Given the description of an element on the screen output the (x, y) to click on. 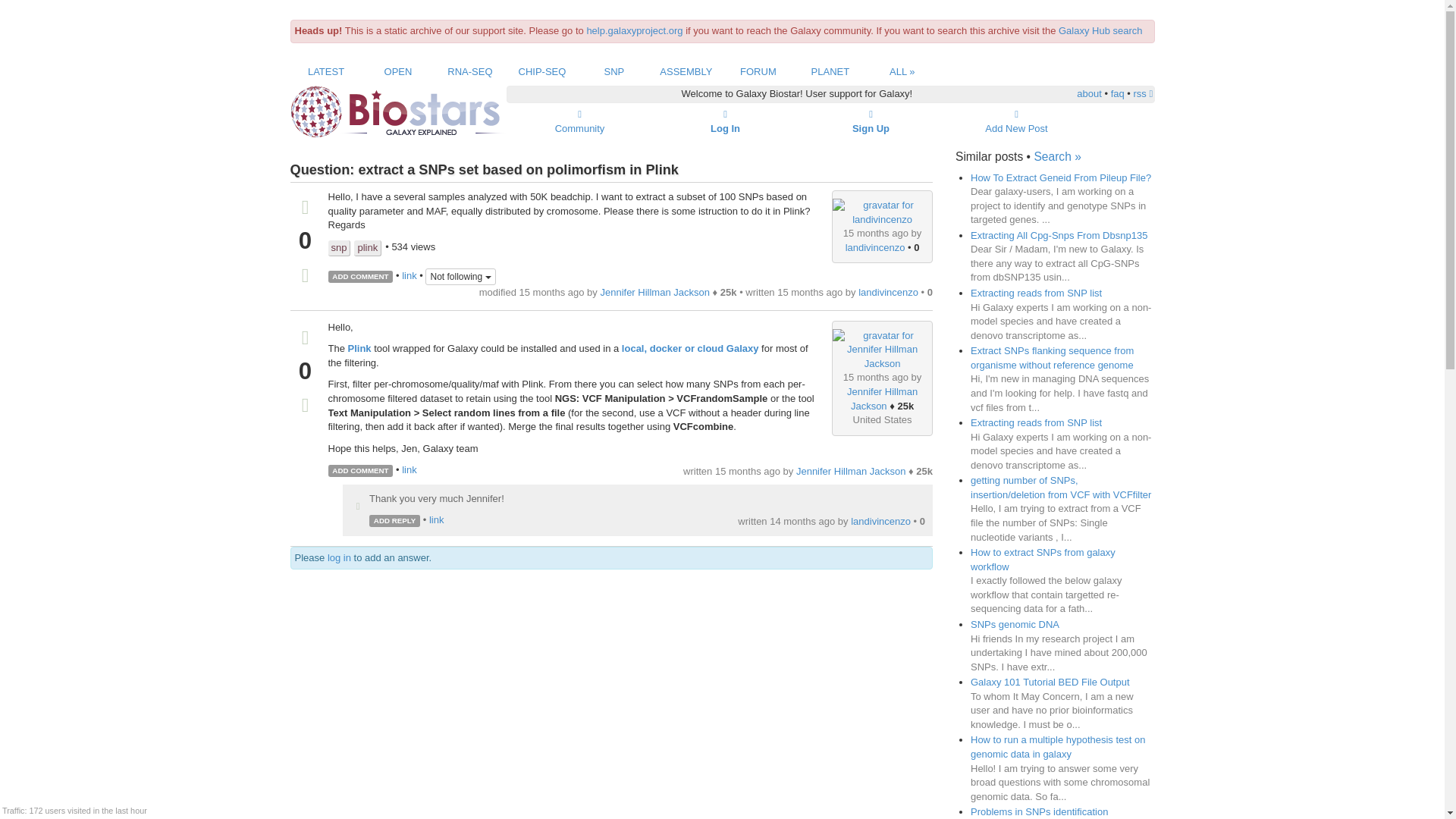
Community (579, 121)
OPEN (398, 71)
CHIP-SEQ (542, 71)
Galaxy Hub search (1100, 30)
LATEST (325, 71)
Upvote! (357, 506)
RNA-SEQ (469, 71)
link (408, 275)
ASSEMBLY (685, 71)
Add New Post (1015, 121)
